Given the description of an element on the screen output the (x, y) to click on. 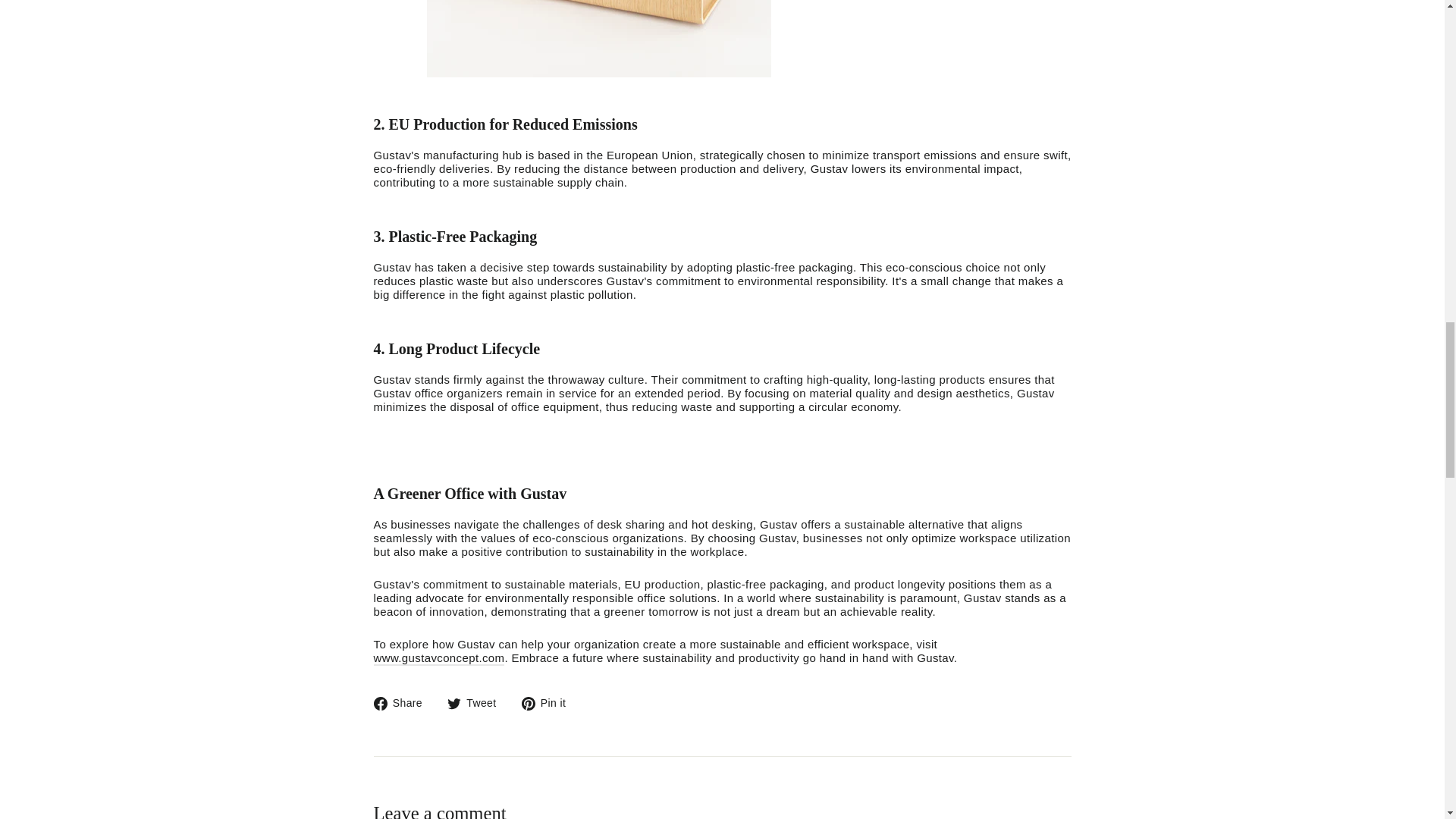
Share on Facebook (402, 703)
twitter (549, 703)
www.gustavconcept.com (453, 703)
Pin on Pinterest (437, 658)
Tweet on Twitter (549, 703)
